Given the description of an element on the screen output the (x, y) to click on. 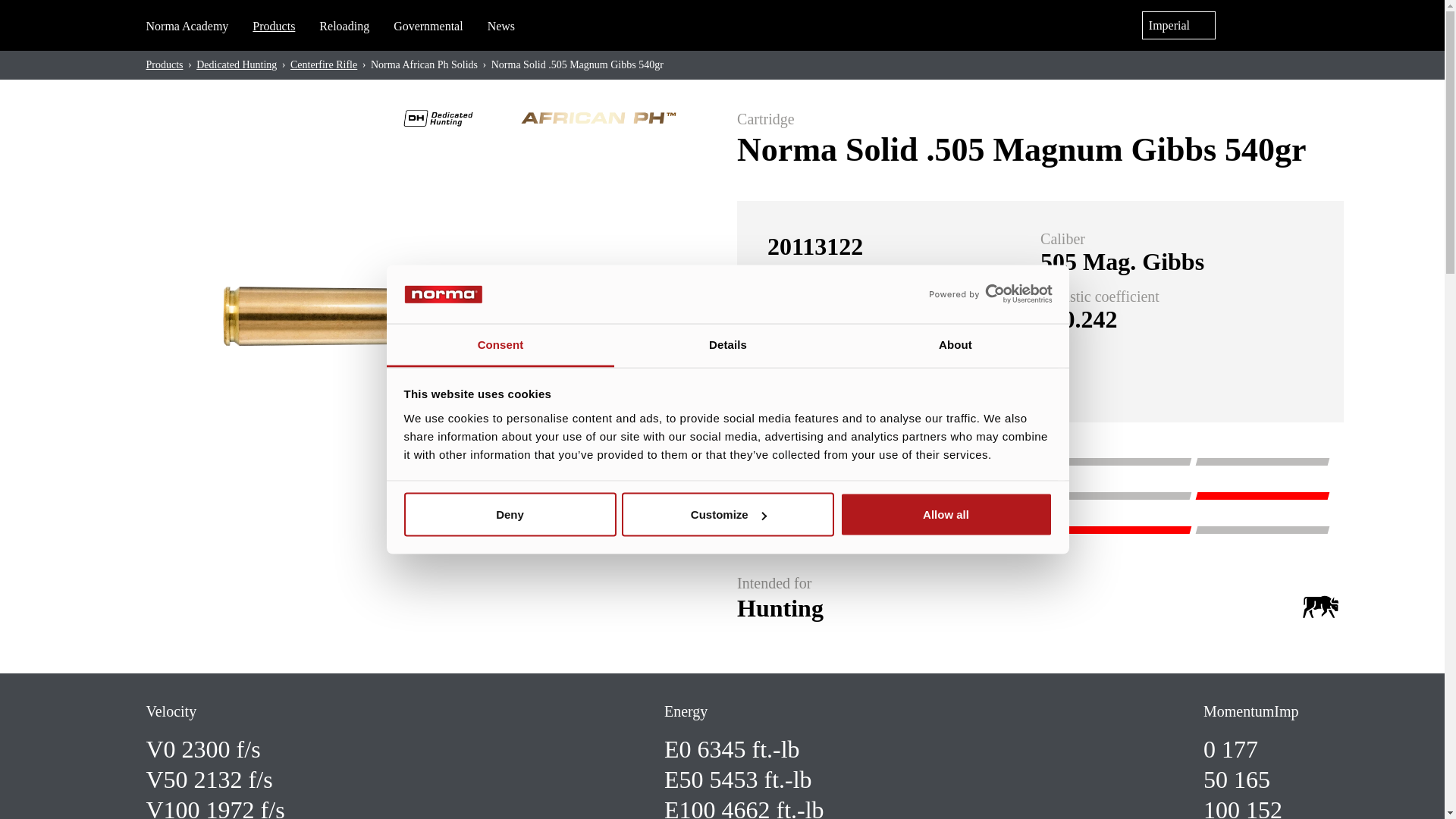
Consent (500, 344)
About (954, 344)
Details (727, 344)
